Given the description of an element on the screen output the (x, y) to click on. 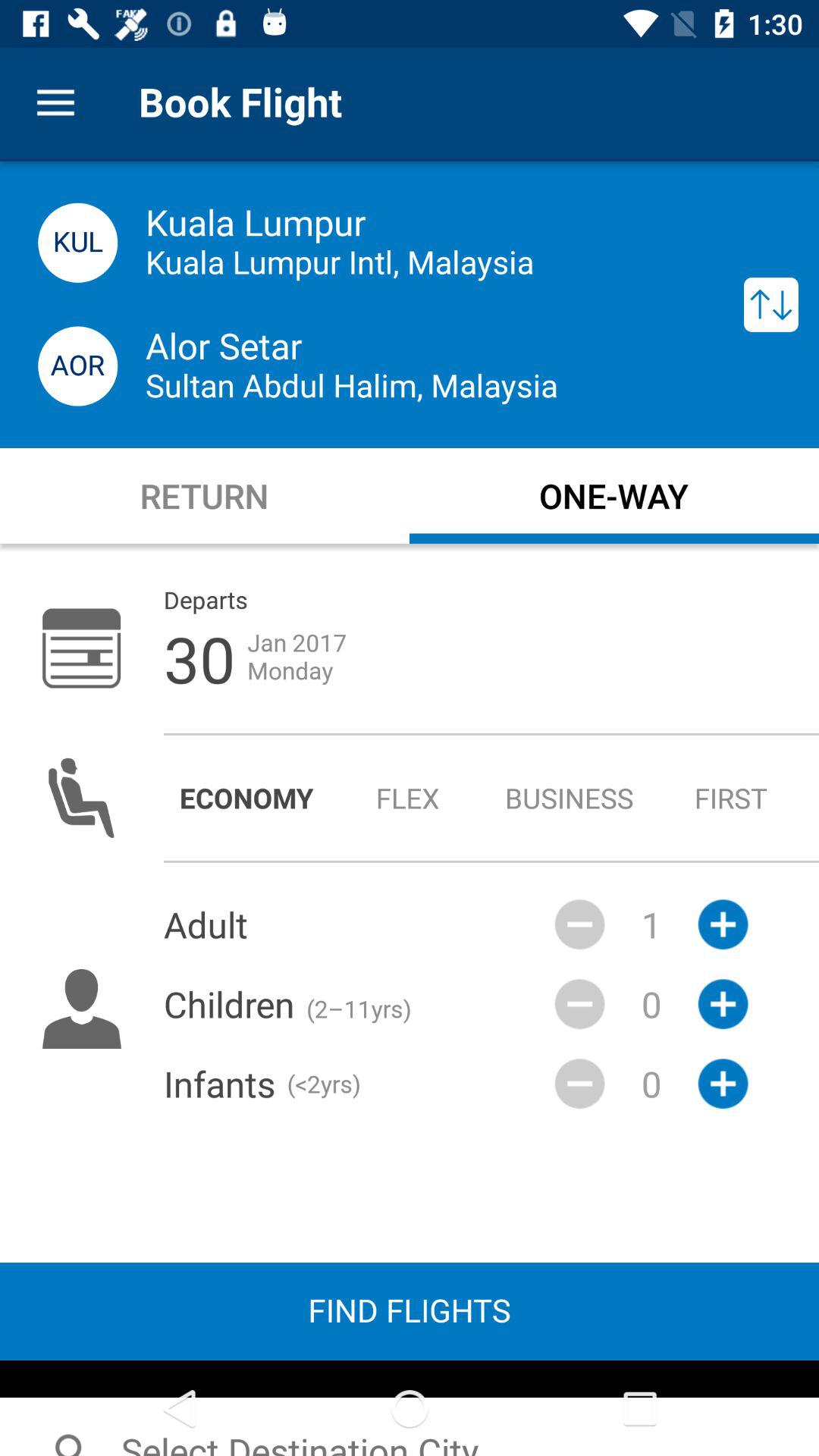
choose icon next to flex item (569, 797)
